Given the description of an element on the screen output the (x, y) to click on. 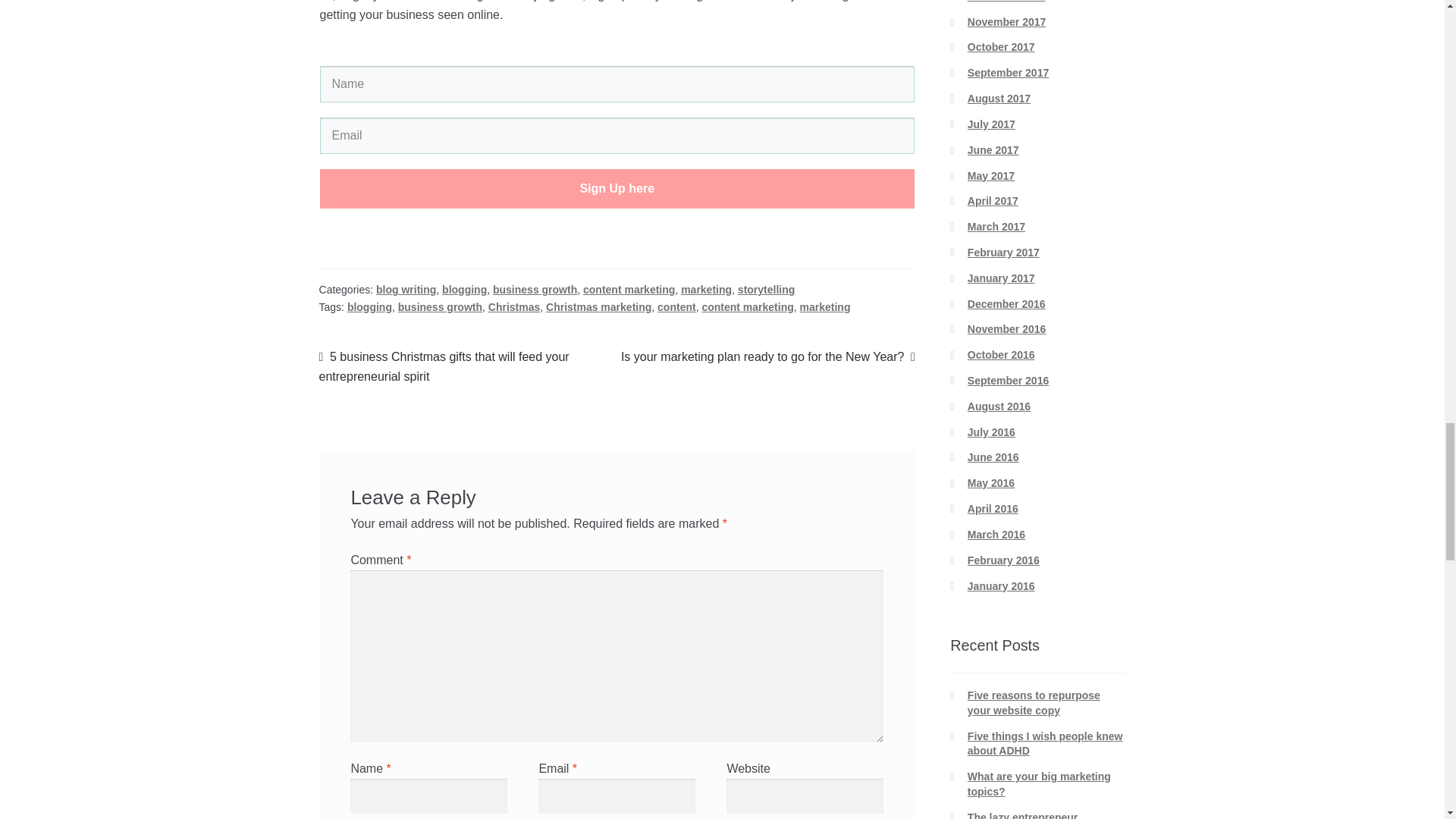
Sign Up here (617, 188)
blog writing (405, 289)
